Given the description of an element on the screen output the (x, y) to click on. 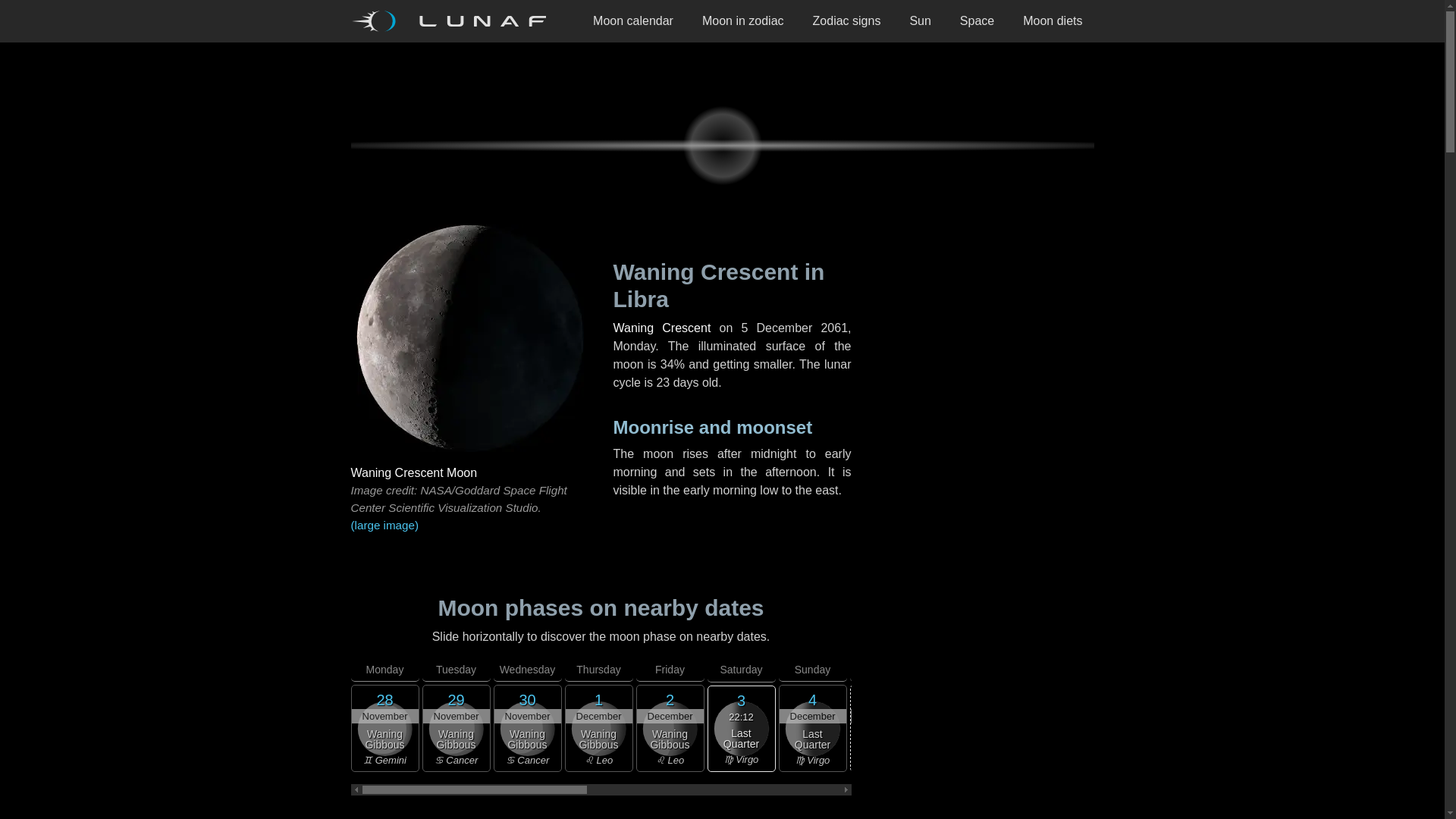
Zodiac signs (847, 21)
Moon calendar (632, 21)
Sun (920, 21)
Sun (920, 21)
Moon diets (1052, 21)
Space (977, 21)
Moon calendar (632, 21)
Moon in zodiac (742, 21)
Large image PNG: Waning Crescent Moon (469, 525)
Moon diets (1052, 21)
Moon in zodiac (742, 21)
Space (977, 21)
Zodiac signs (847, 21)
Lunaf (453, 21)
